Given the description of an element on the screen output the (x, y) to click on. 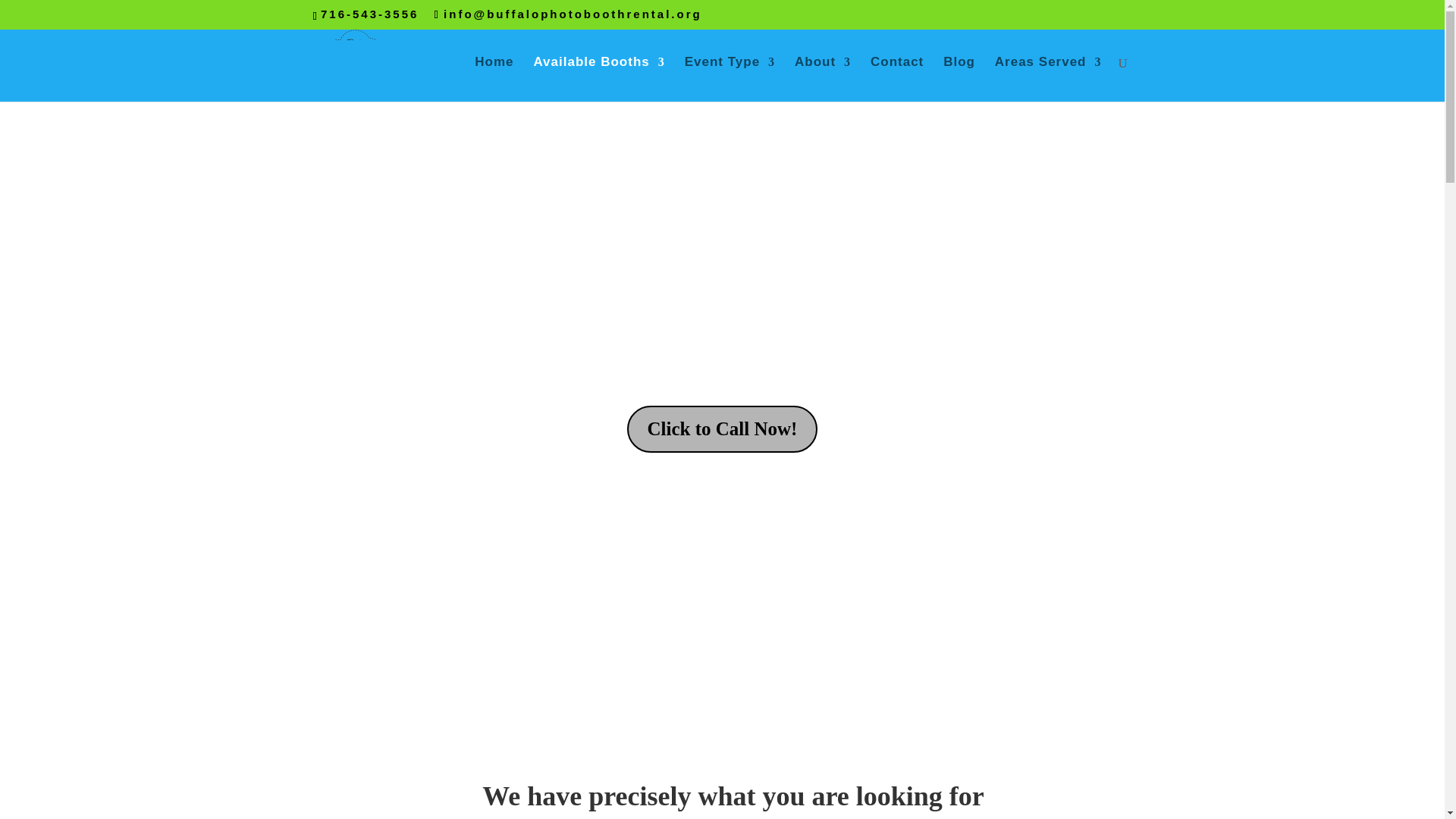
About (822, 78)
Areas Served (1048, 78)
Contact (896, 78)
Available Booths (597, 78)
Event Type (729, 78)
